Given the description of an element on the screen output the (x, y) to click on. 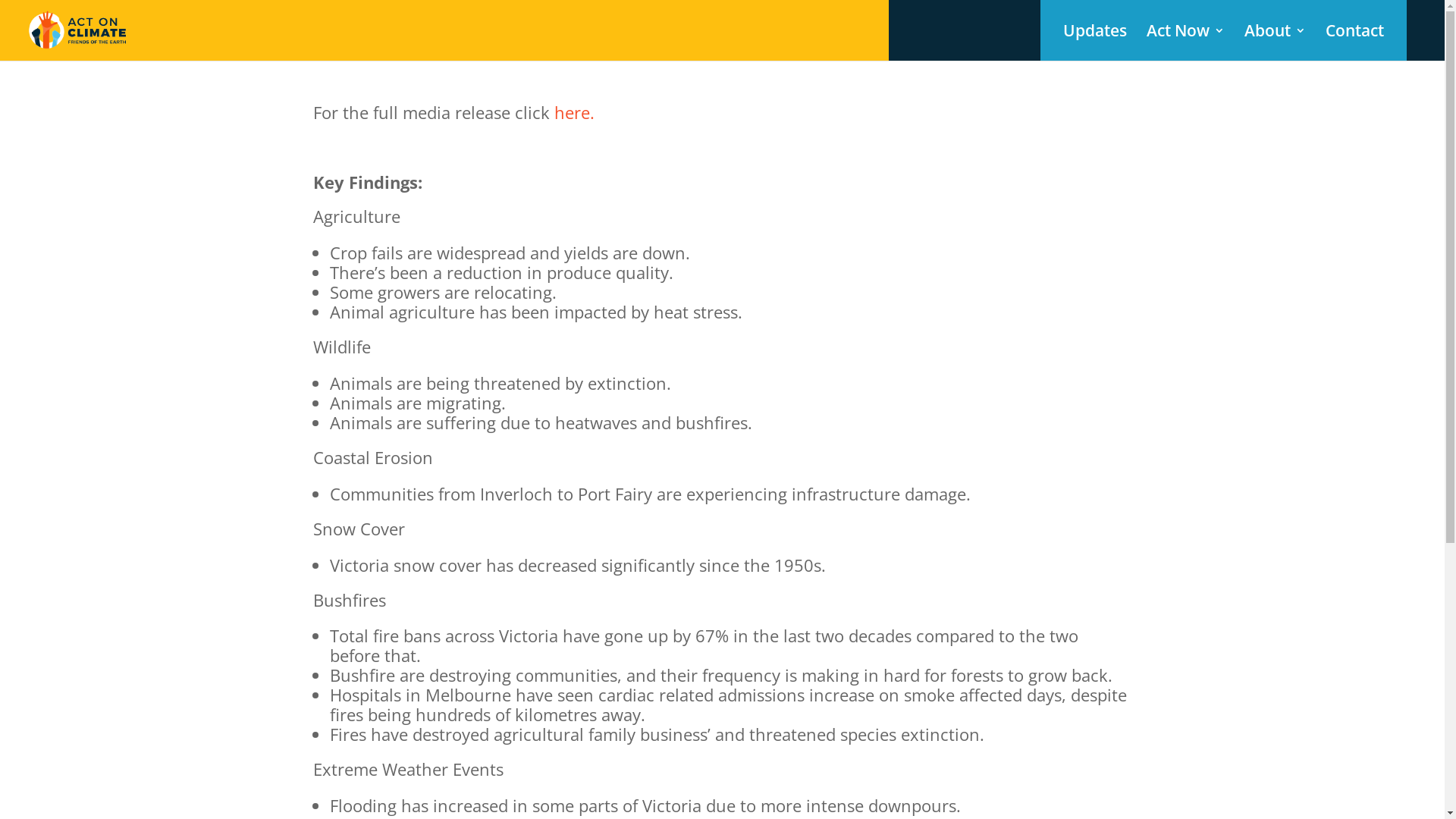
Contact Element type: text (1354, 42)
Updates Element type: text (1094, 42)
Act Now Element type: text (1185, 42)
here. Element type: text (573, 111)
About Element type: text (1274, 42)
